Given the description of an element on the screen output the (x, y) to click on. 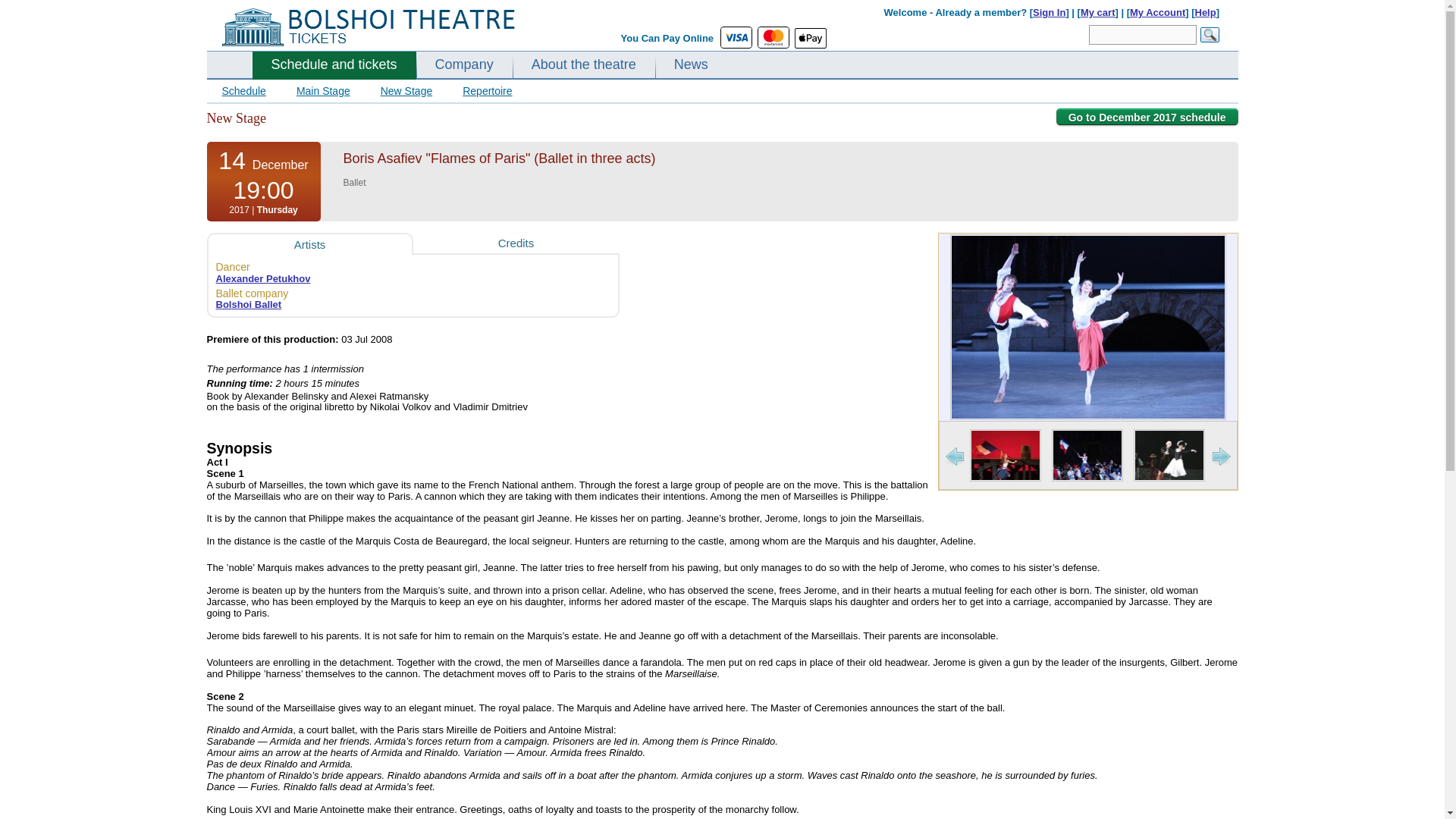
My Account (1157, 12)
Company (464, 65)
Sign In (1048, 12)
Repertoire (486, 90)
New Stage (405, 90)
News (690, 65)
Go to December 2017 schedule (1148, 116)
My cart (1097, 12)
